Given the description of an element on the screen output the (x, y) to click on. 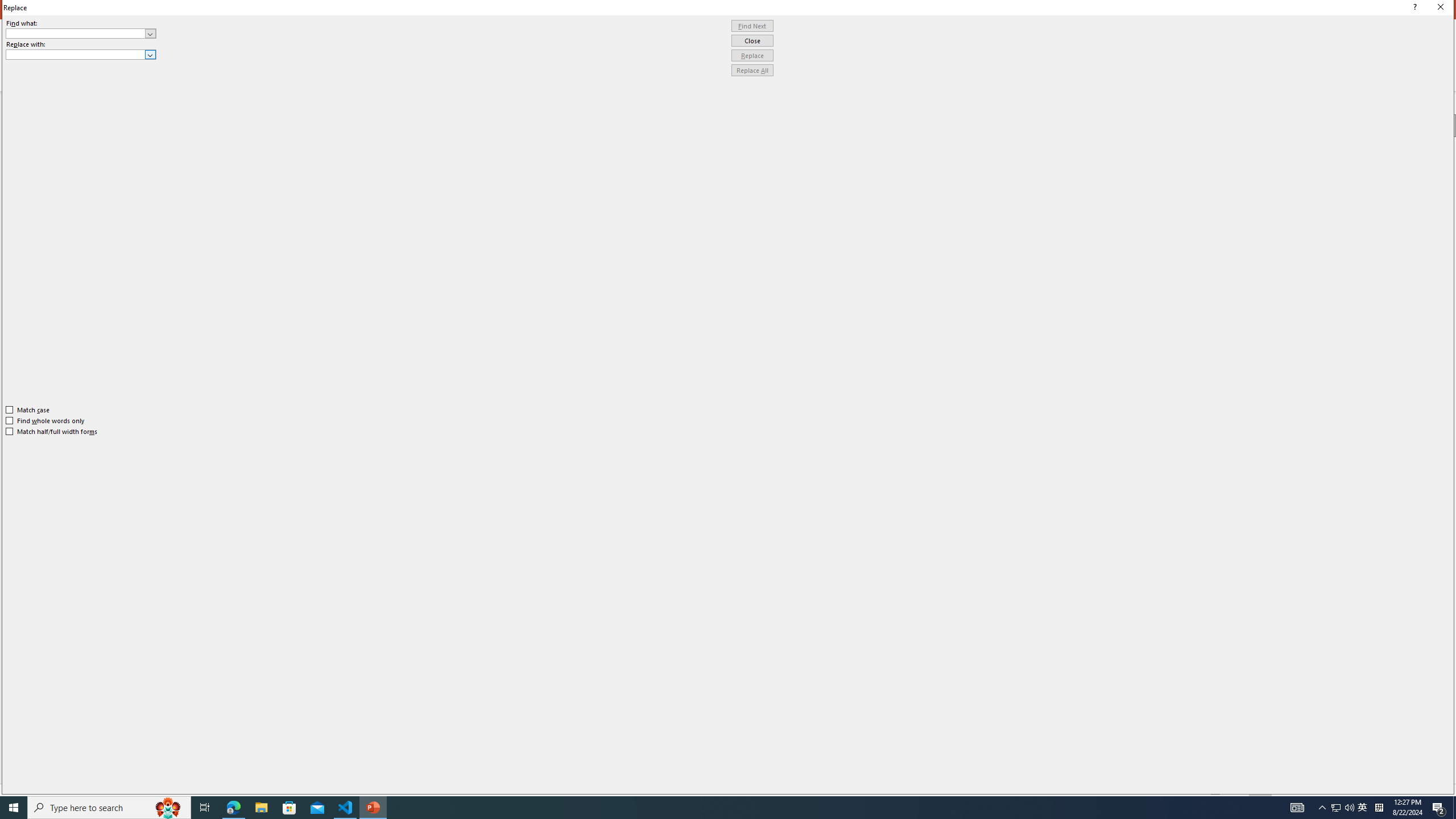
Find whole words only (45, 420)
Replace (752, 55)
Match case (27, 409)
Match half/full width forms (52, 431)
Replace with (80, 54)
Find what (80, 33)
Find what (75, 33)
Find Next (752, 25)
Context help (1413, 8)
Replace All (752, 69)
Replace with (75, 53)
